Given the description of an element on the screen output the (x, y) to click on. 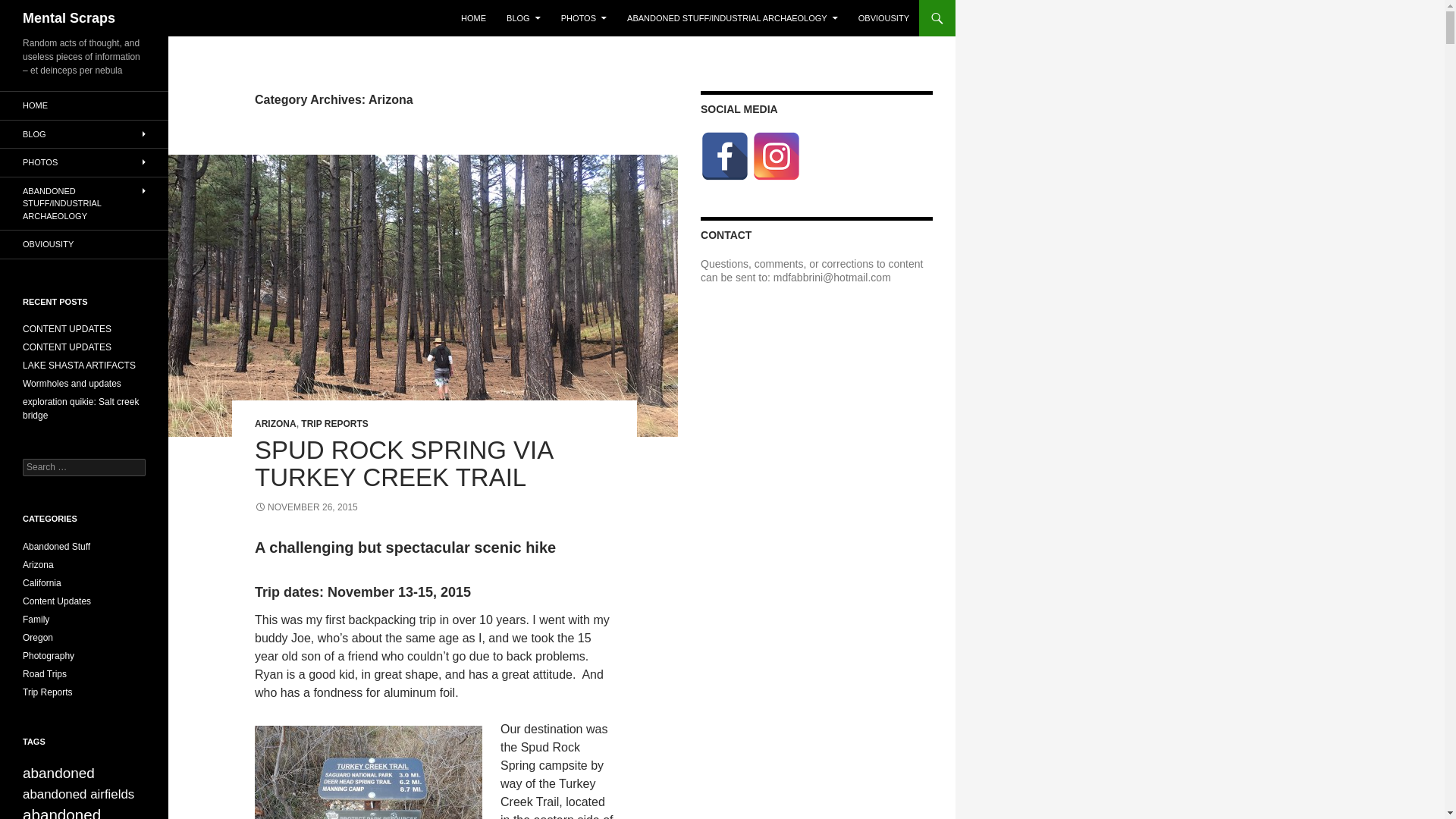
OBVIOUSITY (883, 18)
PHOTOS (583, 18)
SPUD ROCK SPRING VIA TURKEY CREEK TRAIL (402, 463)
NOVEMBER 26, 2015 (306, 507)
ARIZONA (275, 423)
Mental Scraps (69, 18)
TRIP REPORTS (334, 423)
BLOG (523, 18)
Instagram (776, 155)
Facebook (724, 155)
HOME (473, 18)
